Given the description of an element on the screen output the (x, y) to click on. 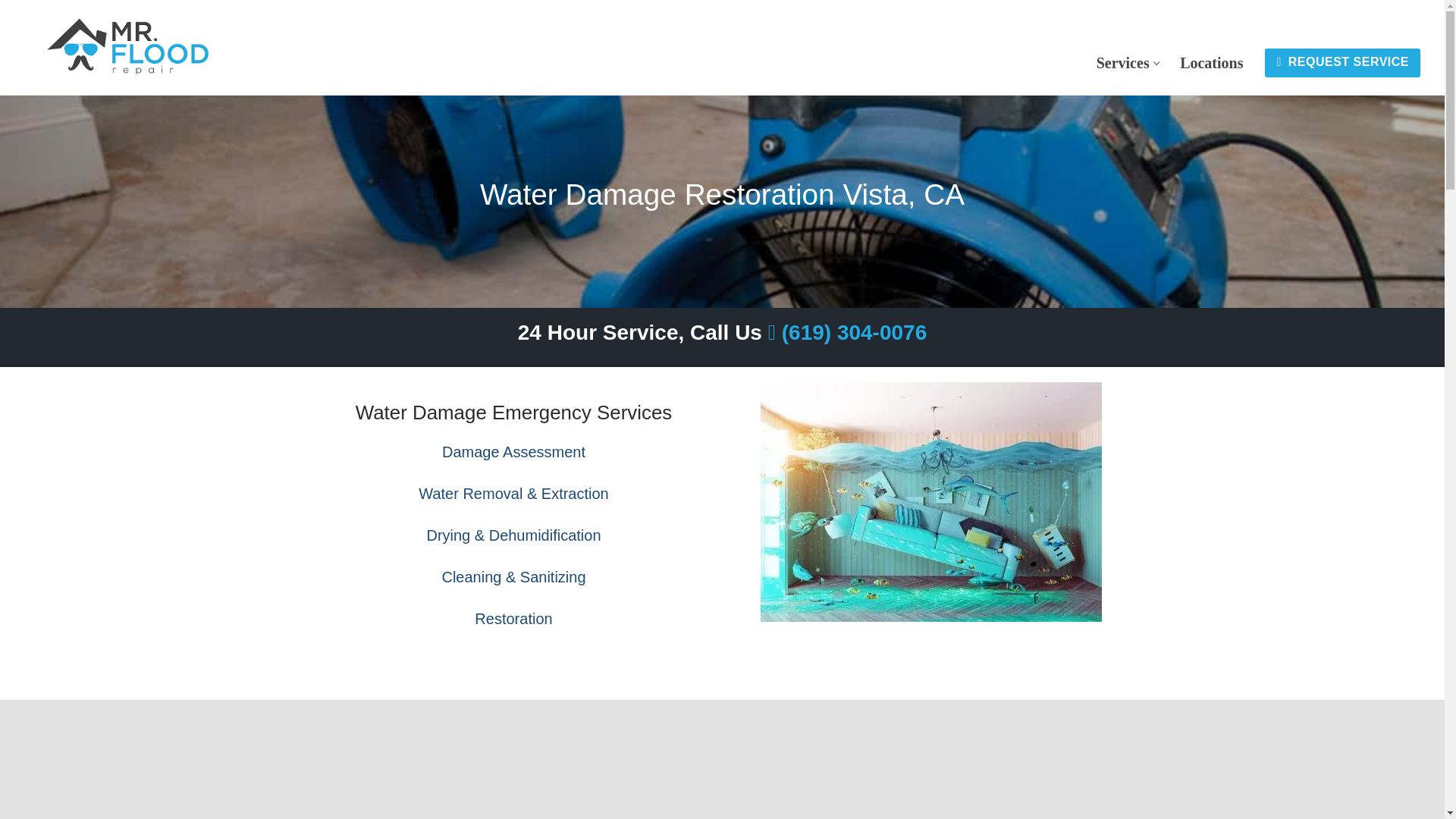
Damage Assessment (513, 451)
REQUEST SERVICE (1343, 62)
Restoration (1126, 62)
Locations (512, 618)
